Given the description of an element on the screen output the (x, y) to click on. 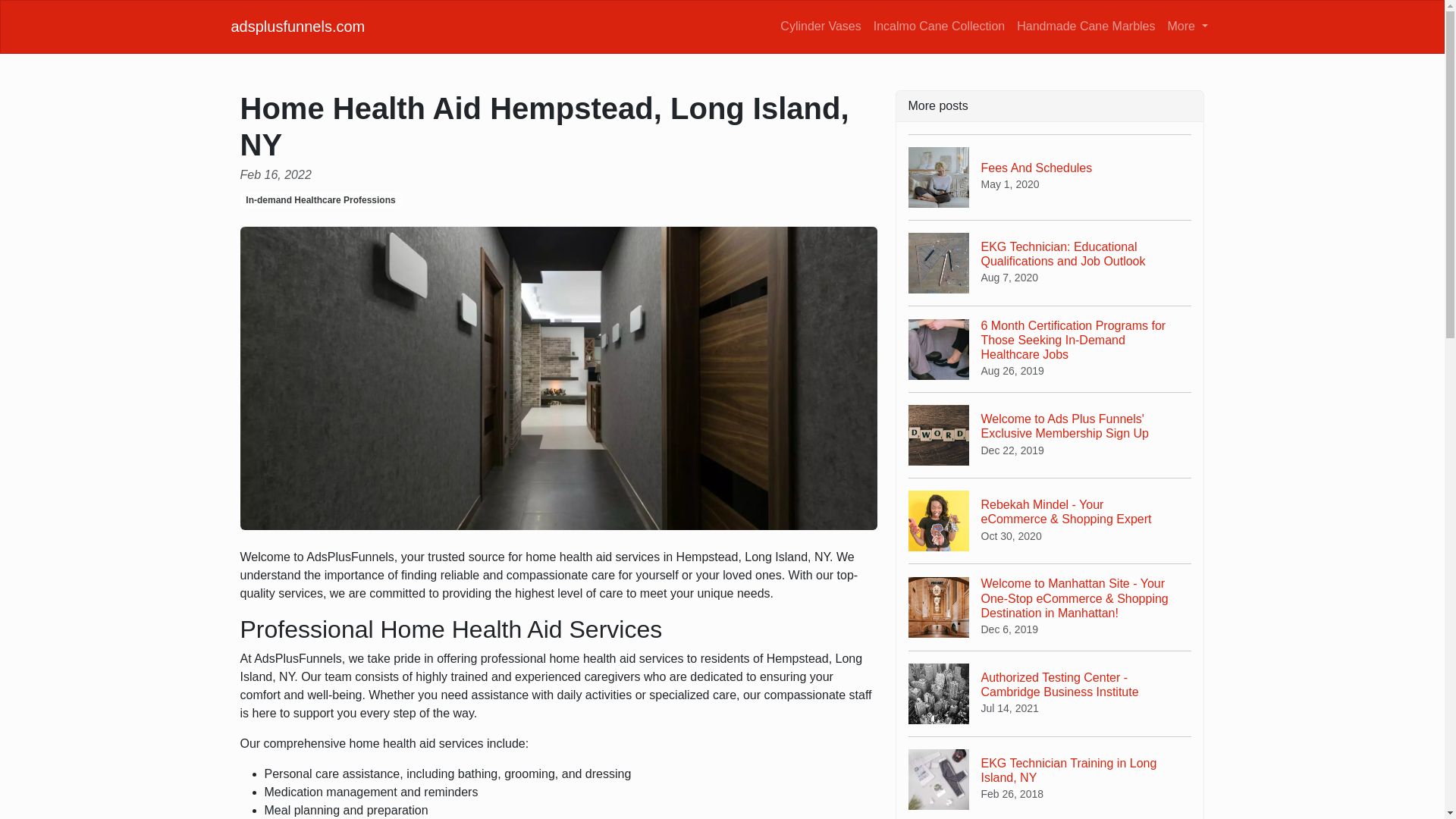
Incalmo Cane Collection (1050, 777)
Cylinder Vases (938, 26)
Handmade Cane Marbles (1050, 177)
adsplusfunnels.com (820, 26)
More (1085, 26)
